Given the description of an element on the screen output the (x, y) to click on. 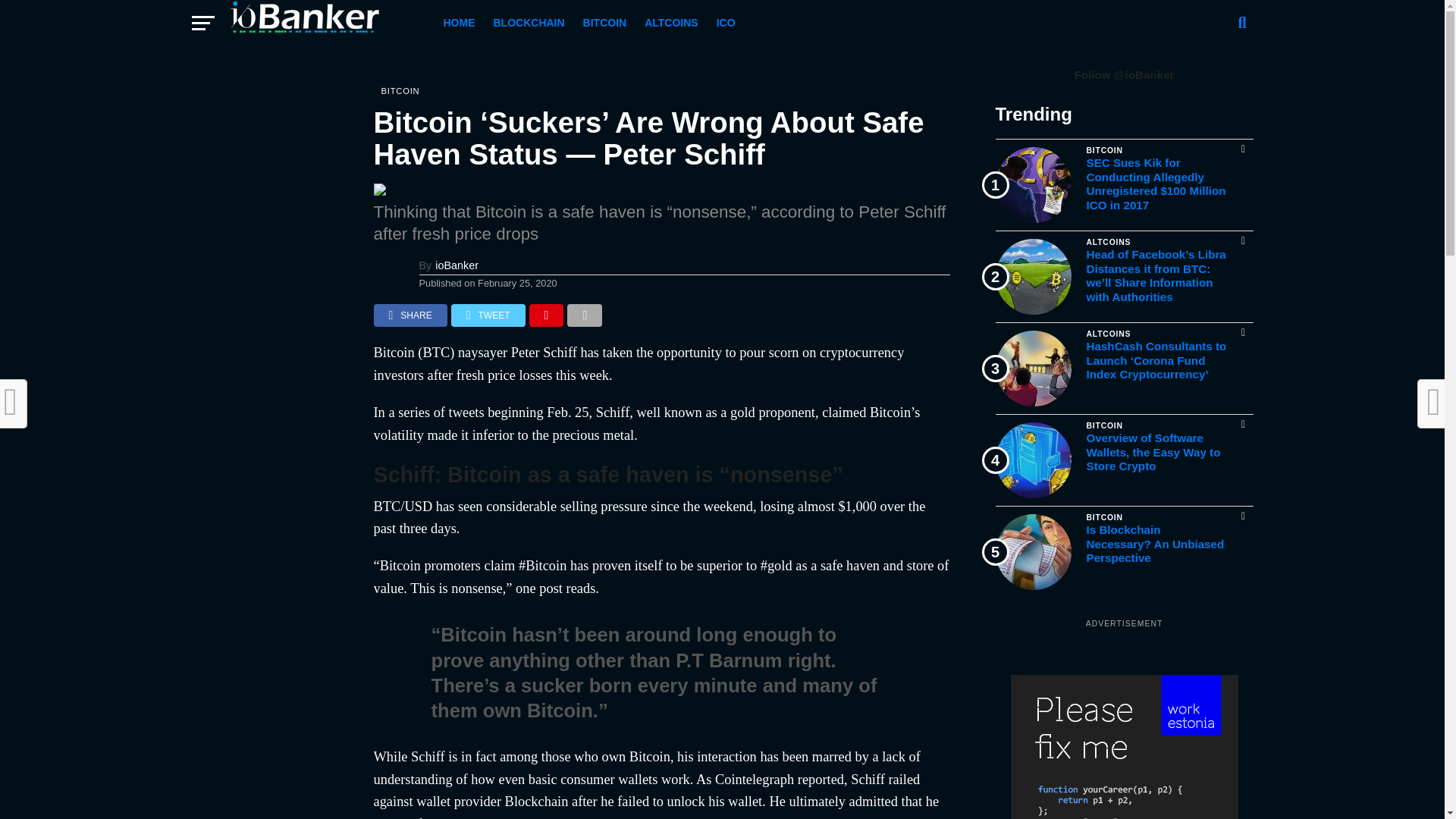
Peter Schiff (543, 352)
ALTCOINS (670, 22)
reported (820, 779)
BTC (435, 352)
series of tweets (440, 412)
ioBanker (457, 265)
BLOCKCHAIN (528, 22)
HOME (458, 22)
BITCOIN (604, 22)
Posts by ioBanker (457, 265)
